Given the description of an element on the screen output the (x, y) to click on. 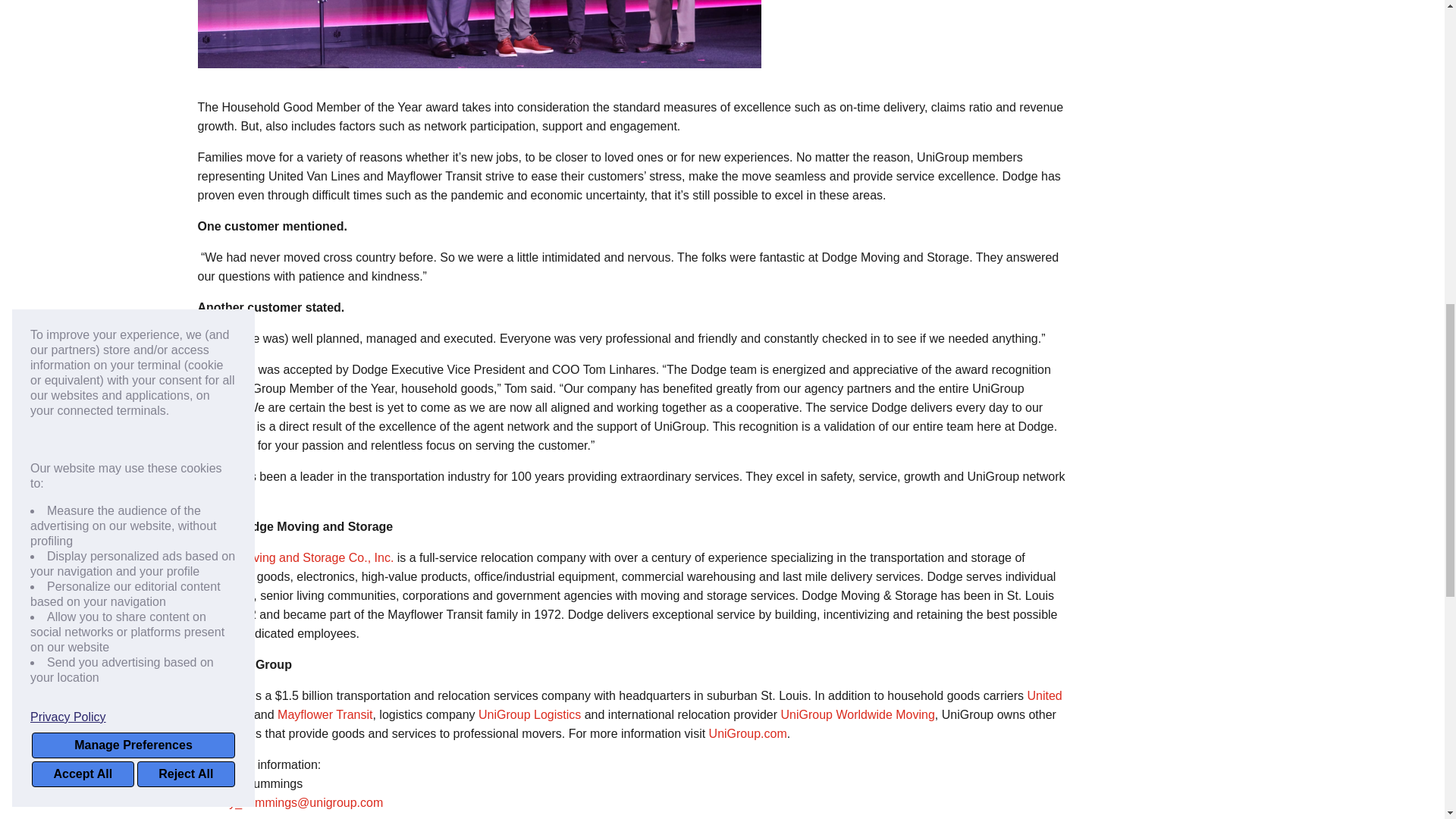
Dodge Moving and Storage Co., Inc. (294, 557)
United Van Lines (628, 705)
UniGroup.com (748, 733)
Mayflower Transit (325, 714)
UniGroup Logistics (529, 714)
UniGroup Worldwide Moving (857, 714)
